Given the description of an element on the screen output the (x, y) to click on. 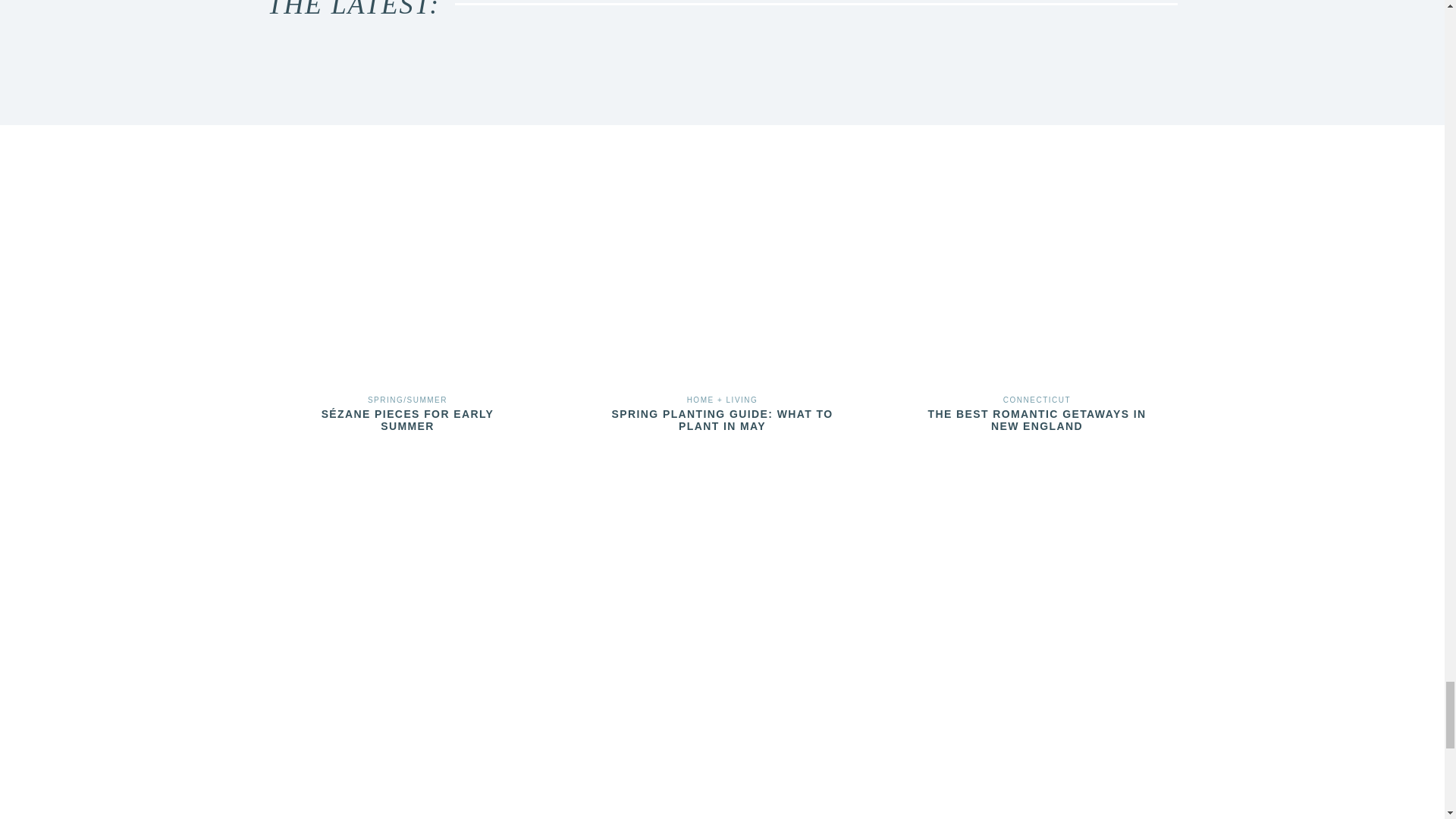
View all posts in Connecticut (1036, 399)
